Given the description of an element on the screen output the (x, y) to click on. 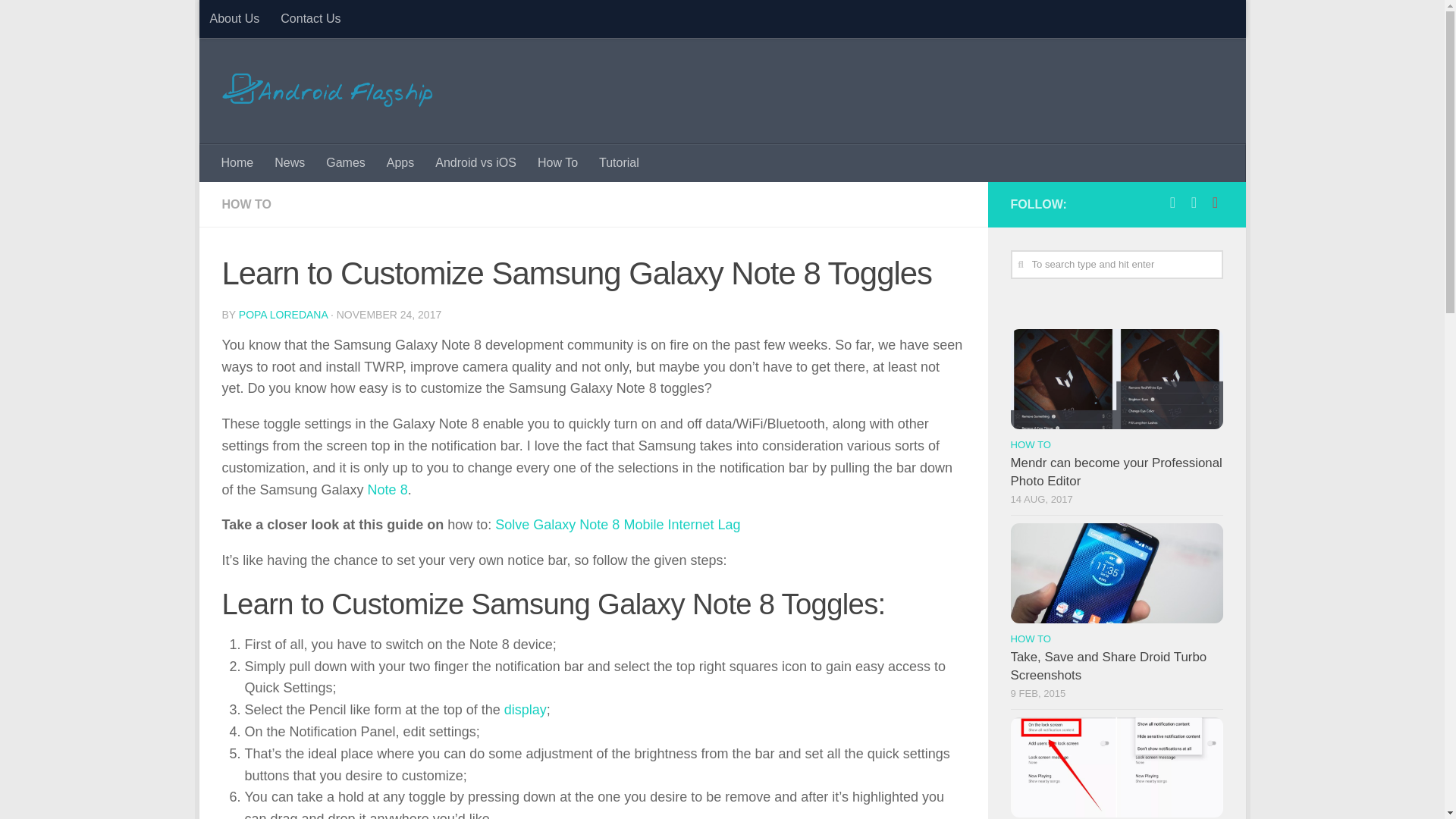
Solve Galaxy Note 8 Mobile Internet Lag (617, 524)
Follow us on Facebook (1171, 201)
Follow us on Twitter (1193, 201)
Home (237, 162)
Follow us on Email-o (1215, 201)
News (289, 162)
About Us (233, 18)
Games (345, 162)
Apps (400, 162)
To search type and hit enter (1116, 264)
Tutorial (618, 162)
Contact Us (309, 18)
display (525, 709)
Posts by Popa Loredana (282, 314)
How To (557, 162)
